Given the description of an element on the screen output the (x, y) to click on. 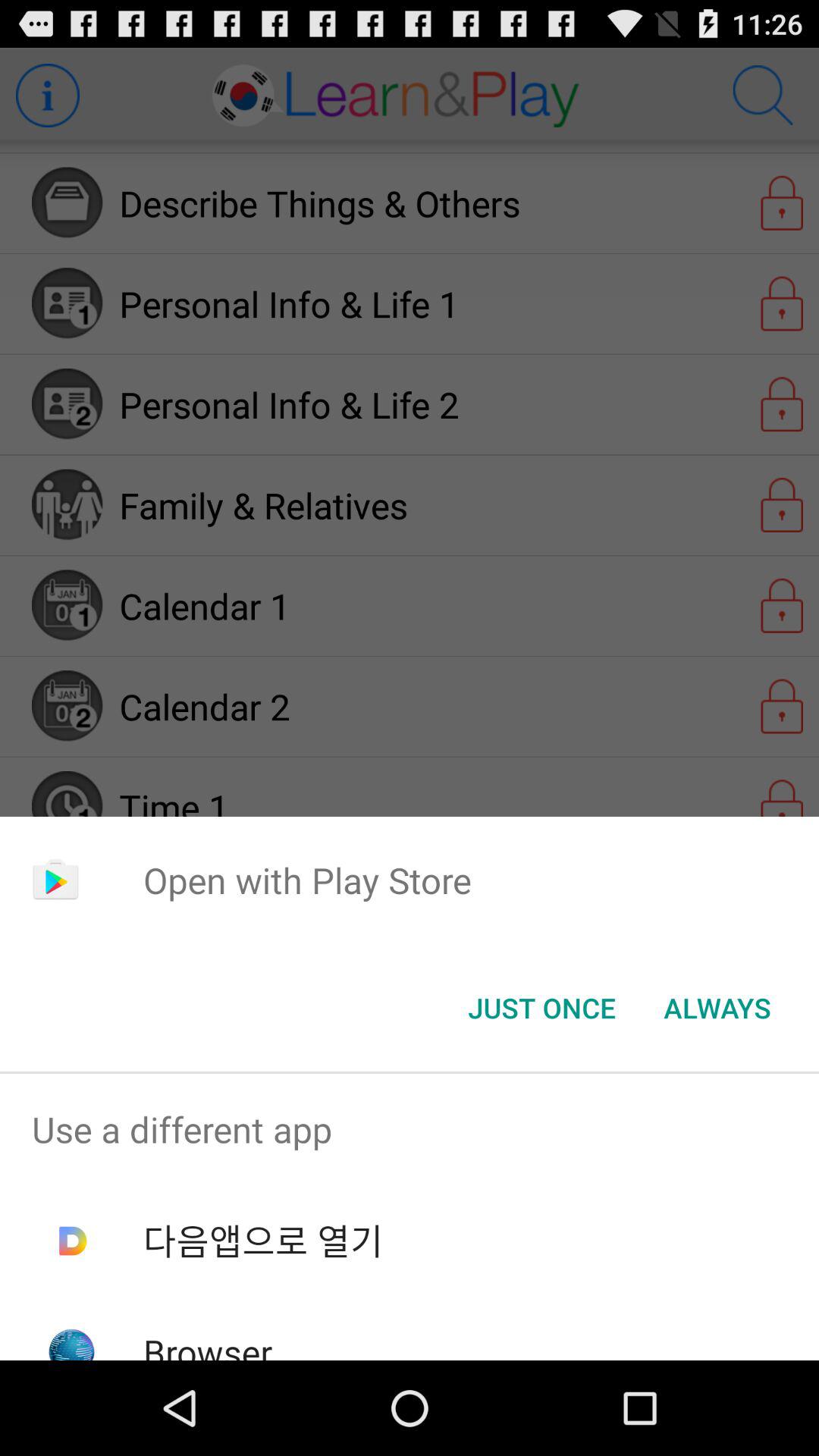
tap the icon to the left of always (541, 1007)
